Given the description of an element on the screen output the (x, y) to click on. 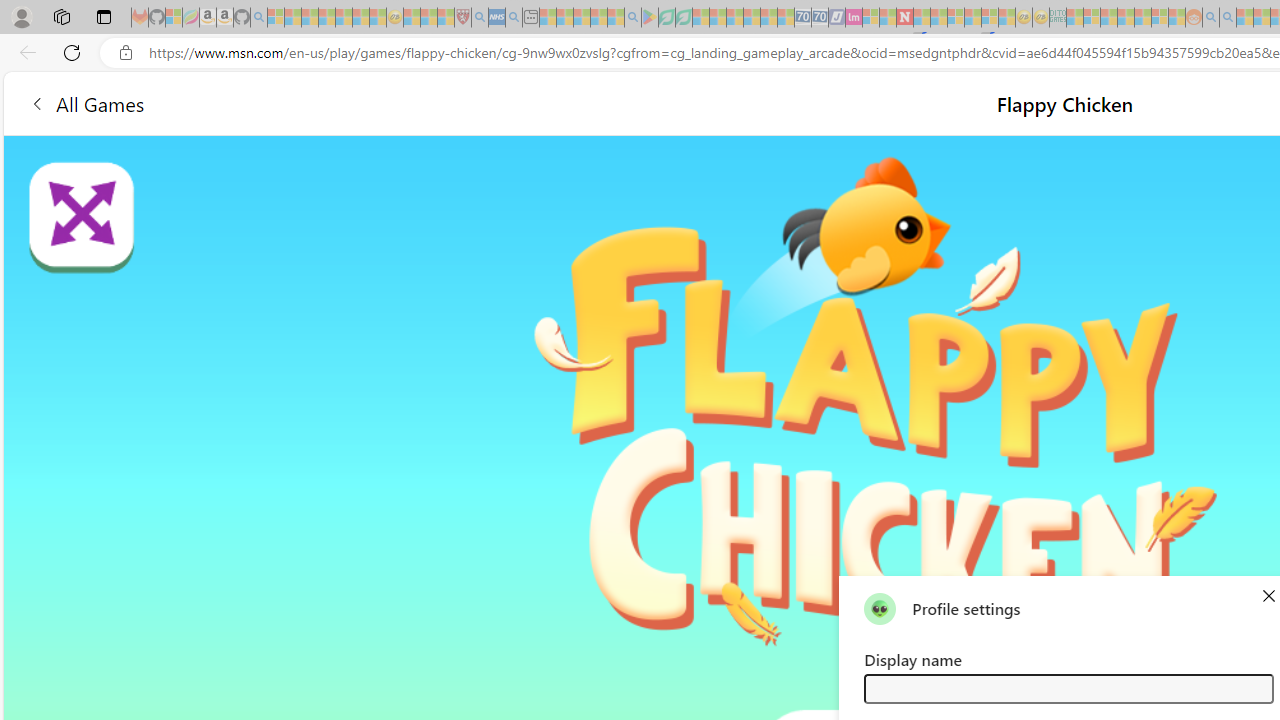
Class: text-input (1068, 688)
